Given the description of an element on the screen output the (x, y) to click on. 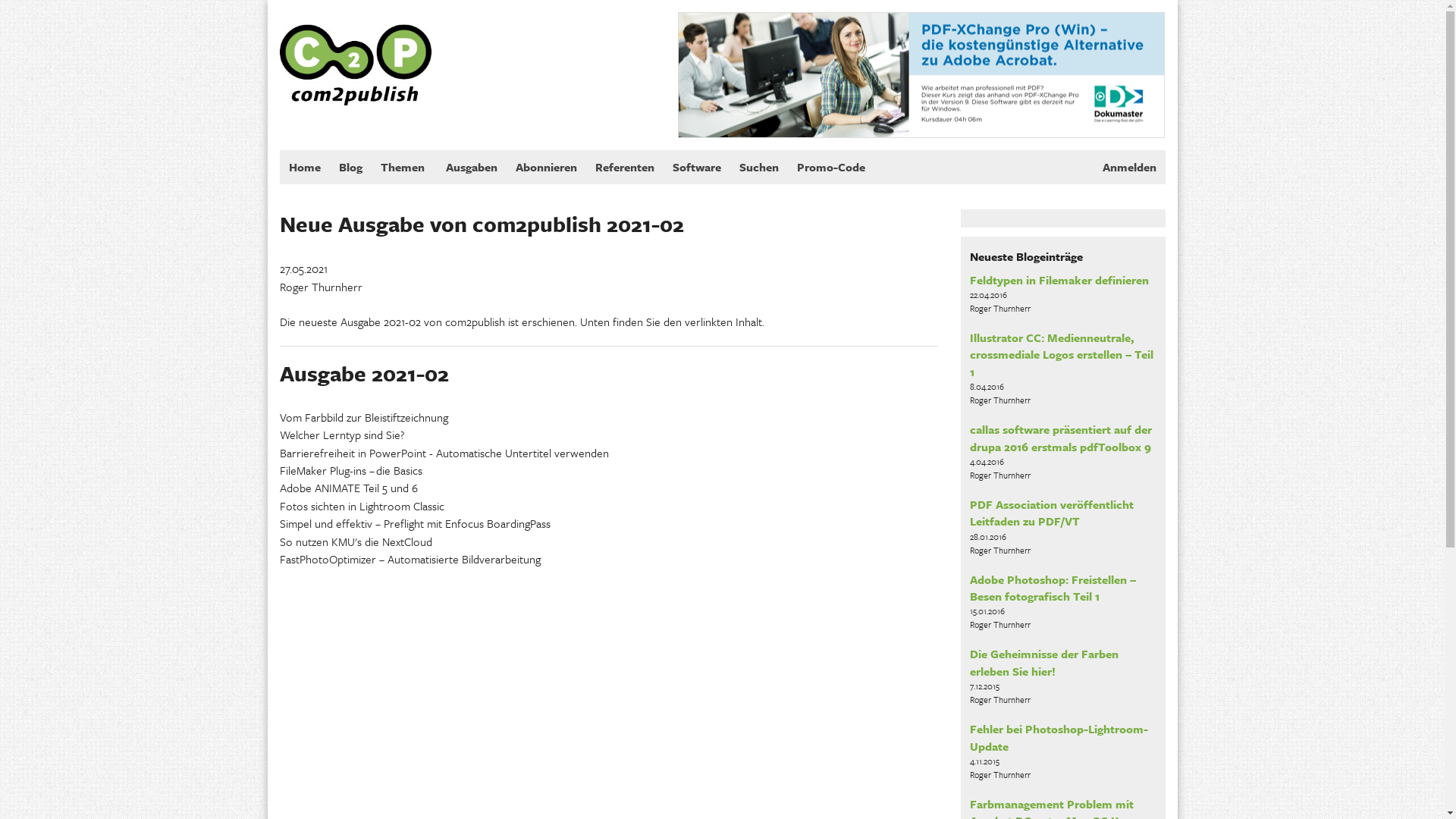
Adobe ANIMATE Teil 5 und 6 Element type: text (348, 487)
Suchen Element type: text (758, 167)
Themen Element type: text (403, 167)
Blog Element type: text (349, 167)
Anmelden Element type: text (1129, 167)
Abonnieren Element type: text (546, 167)
Welcher Lerntyp sind Sie? Element type: text (341, 434)
Home Element type: text (304, 167)
So nutzen KMU's die NextCloud Element type: text (355, 541)
Referenten Element type: text (623, 167)
Fehler bei Photoshop-Lightroom-Update Element type: text (1058, 736)
Vom Farbbild zur Bleistiftzeichnung Element type: text (363, 416)
Fotos sichten in Lightroom Classic Element type: text (361, 505)
Direkt zum Inhalt Element type: text (40, 0)
com2publish Startseite Element type: hover (354, 53)
Promo-Code Element type: text (830, 167)
Die Geheimnisse der Farben erleben Sie hier! Element type: text (1043, 661)
Feldtypen in Filemaker definieren Element type: text (1058, 279)
com2publish Startseite Element type: hover (354, 51)
Ausgaben Element type: text (471, 167)
Software Element type: text (695, 167)
